Given the description of an element on the screen output the (x, y) to click on. 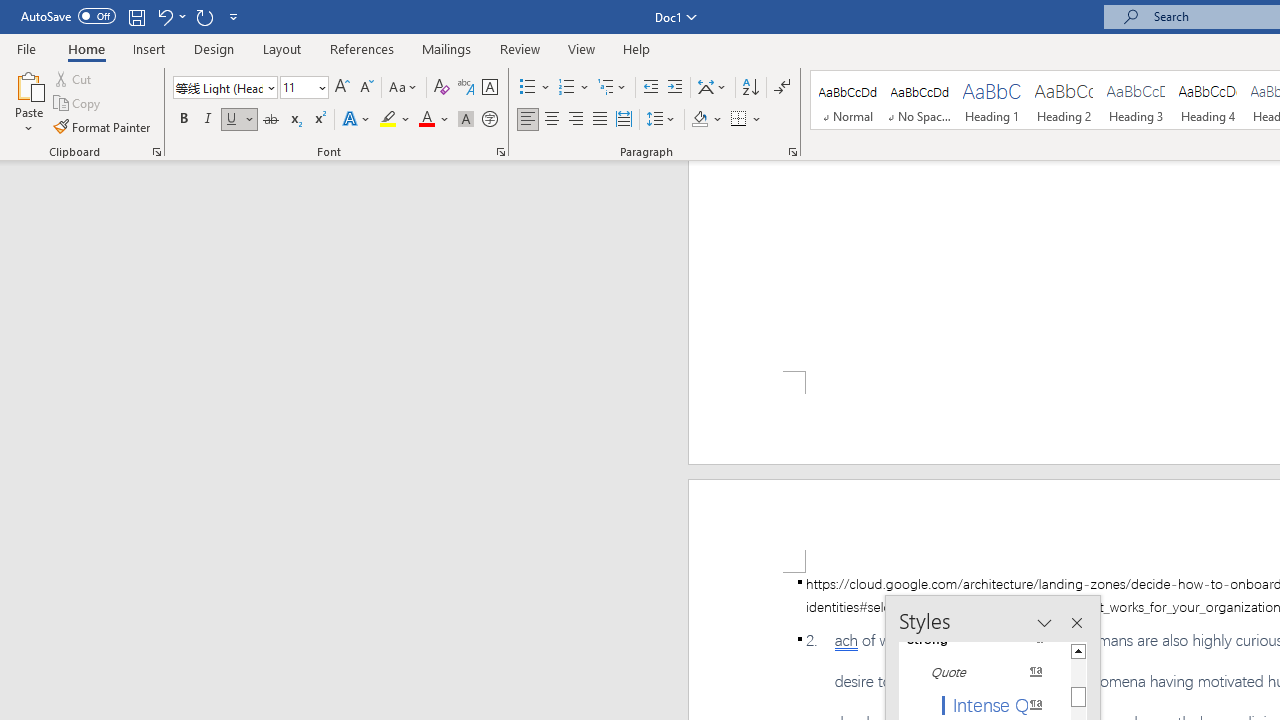
Font... (500, 151)
Office Clipboard... (156, 151)
Show/Hide Editing Marks (781, 87)
Character Shading (465, 119)
Shading RGB(0, 0, 0) (699, 119)
Font Color (434, 119)
